Given the description of an element on the screen output the (x, y) to click on. 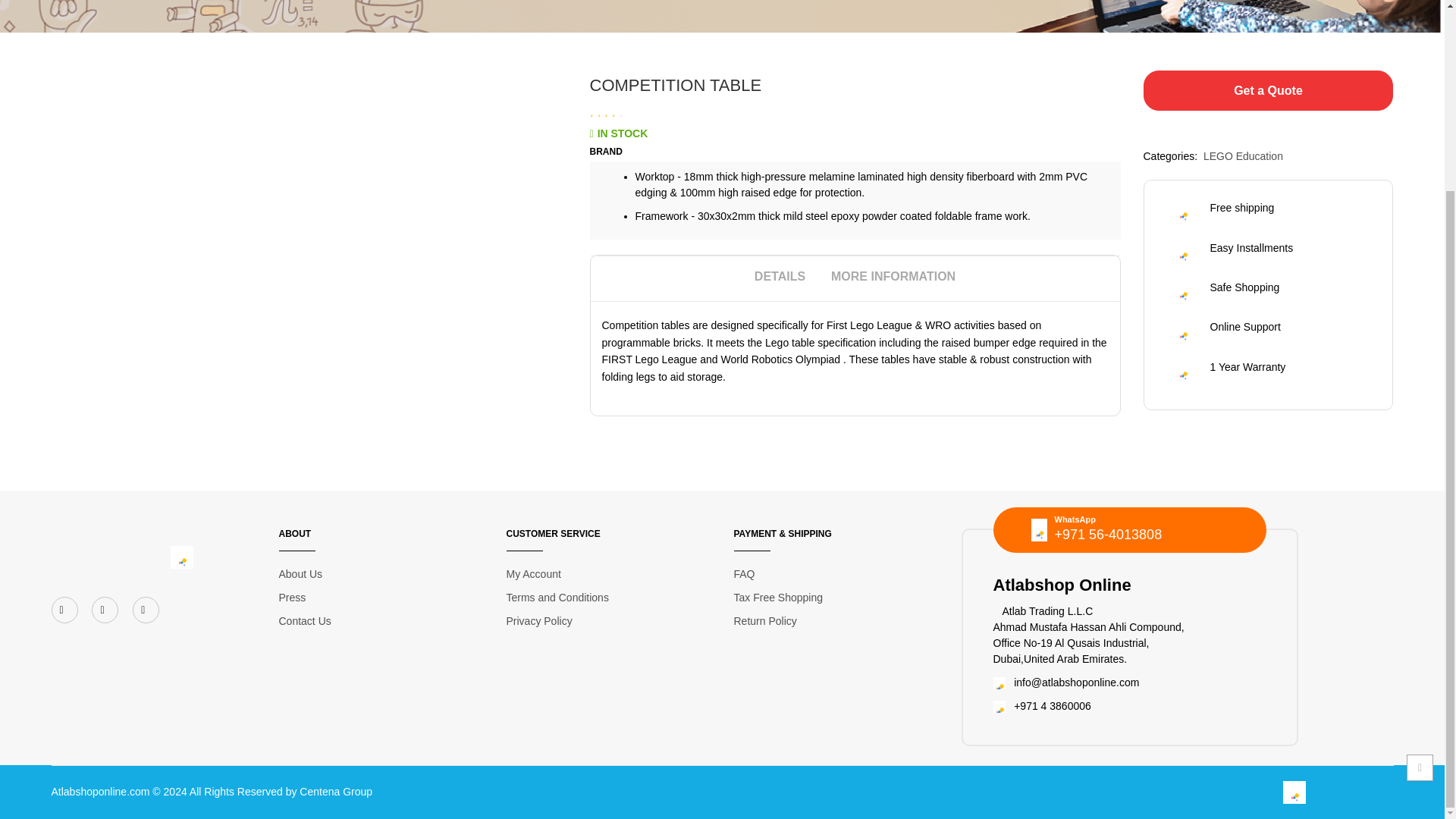
Availability (618, 133)
Twitter (104, 609)
Linkedin (145, 609)
Facebook (64, 609)
